Given the description of an element on the screen output the (x, y) to click on. 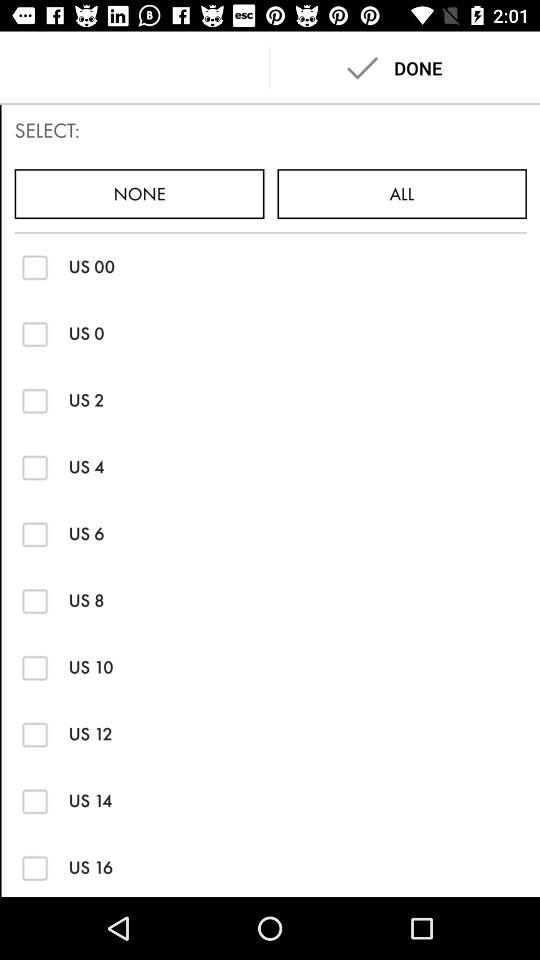
select us 10 (34, 667)
